Given the description of an element on the screen output the (x, y) to click on. 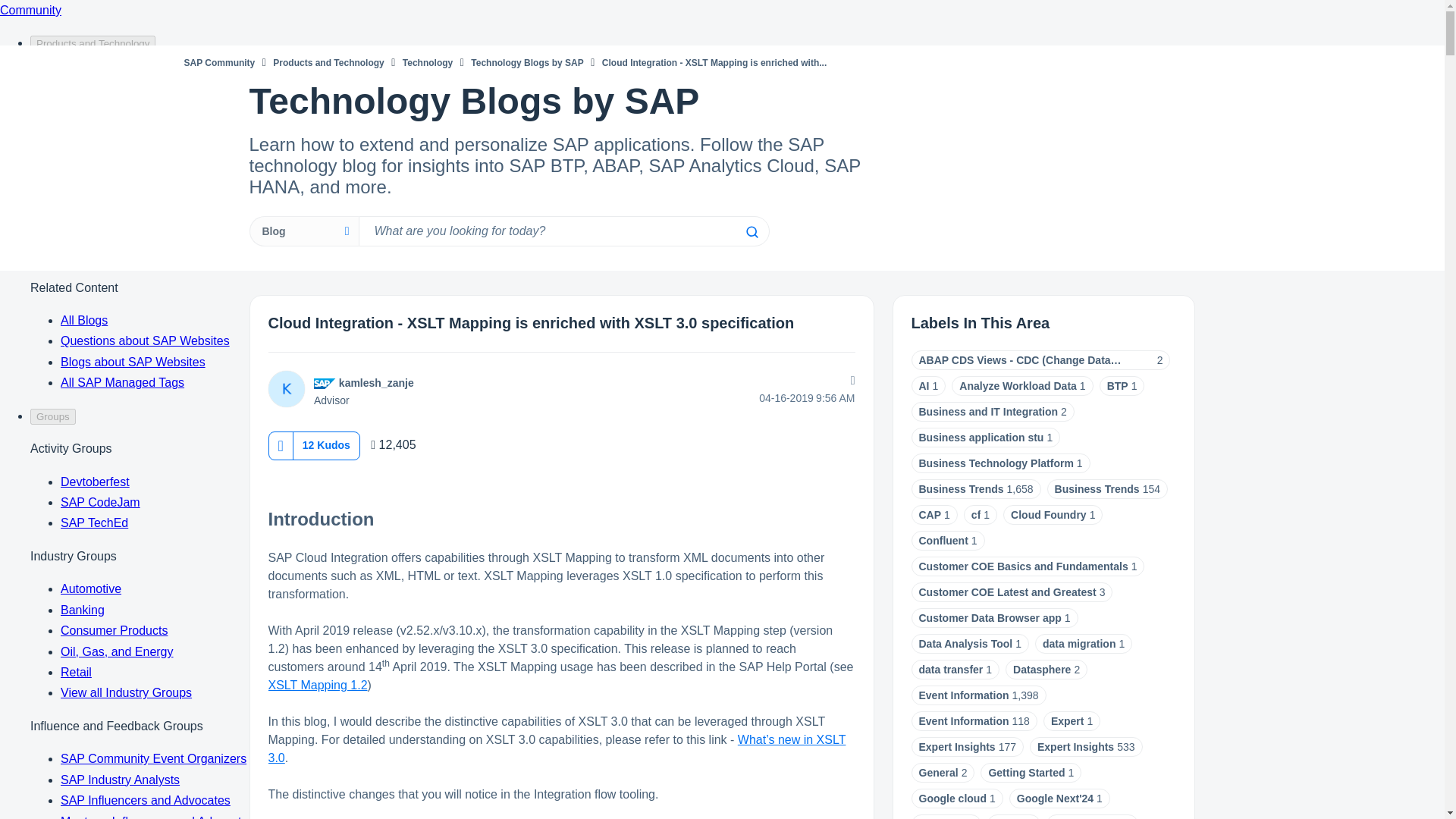
Search (750, 232)
SAP Community (218, 62)
Search Granularity (303, 231)
Technology Blogs by SAP (526, 62)
Search (750, 232)
Posted on (757, 398)
Search (750, 232)
Products and Technology (328, 62)
Search (563, 231)
XSLT Mapping 1.2 (317, 684)
Technology (427, 62)
Advisor (325, 383)
12 Kudos (326, 444)
Click here to see who gave kudos to this post. (326, 444)
